Given the description of an element on the screen output the (x, y) to click on. 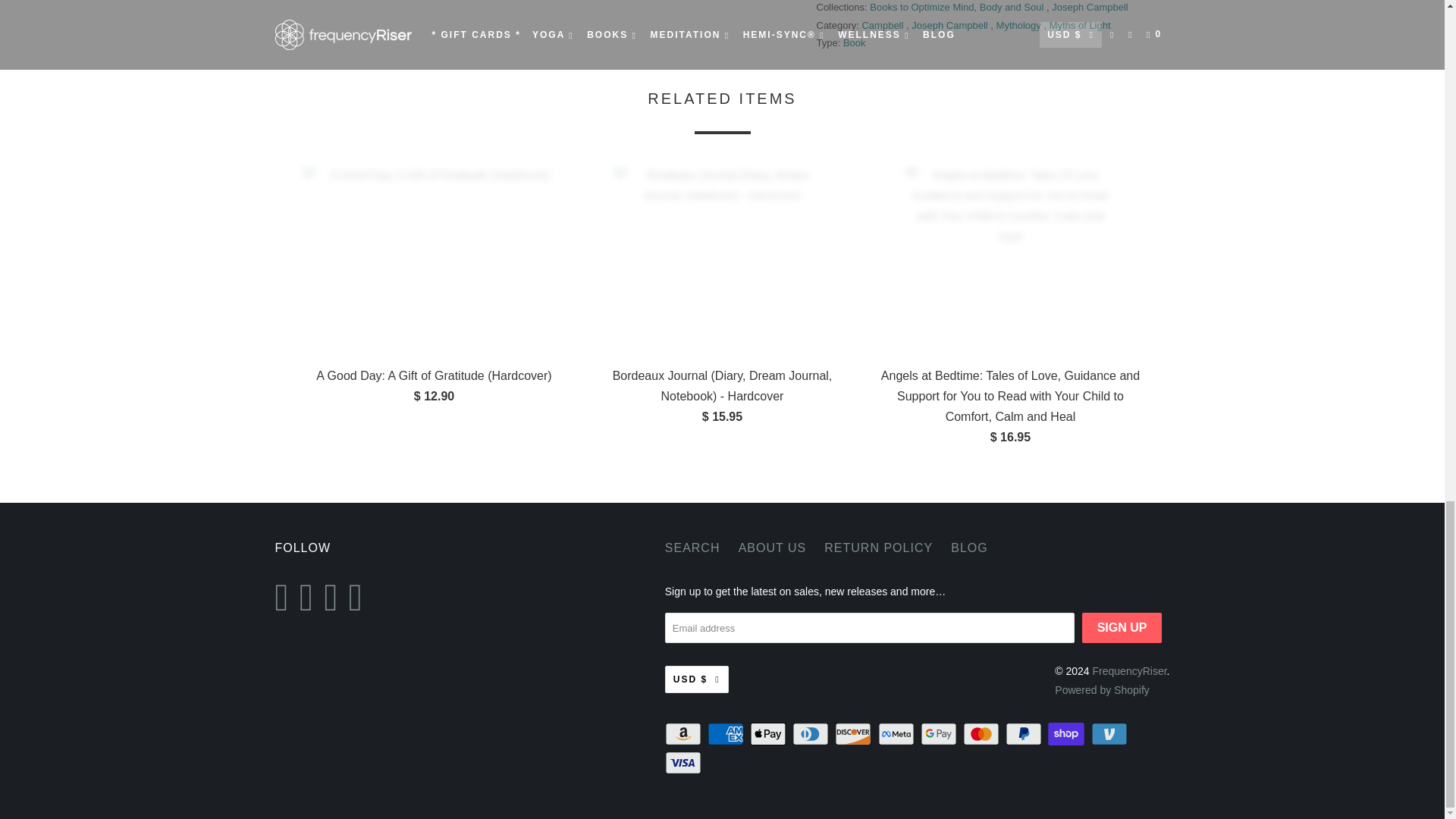
Sign Up (1121, 627)
Products tagged Campbell (883, 25)
Google Pay (939, 733)
Apple Pay (769, 733)
Shop Pay (1067, 733)
Venmo (1109, 733)
Mastercard (982, 733)
Amazon (684, 733)
Books to Optimize Mind, Body and Soul (957, 7)
Diners Club (811, 733)
Joseph Campbell (1088, 7)
Visa (684, 762)
PayPal (1025, 733)
Products tagged Mythology (1019, 25)
Meta Pay (897, 733)
